Given the description of an element on the screen output the (x, y) to click on. 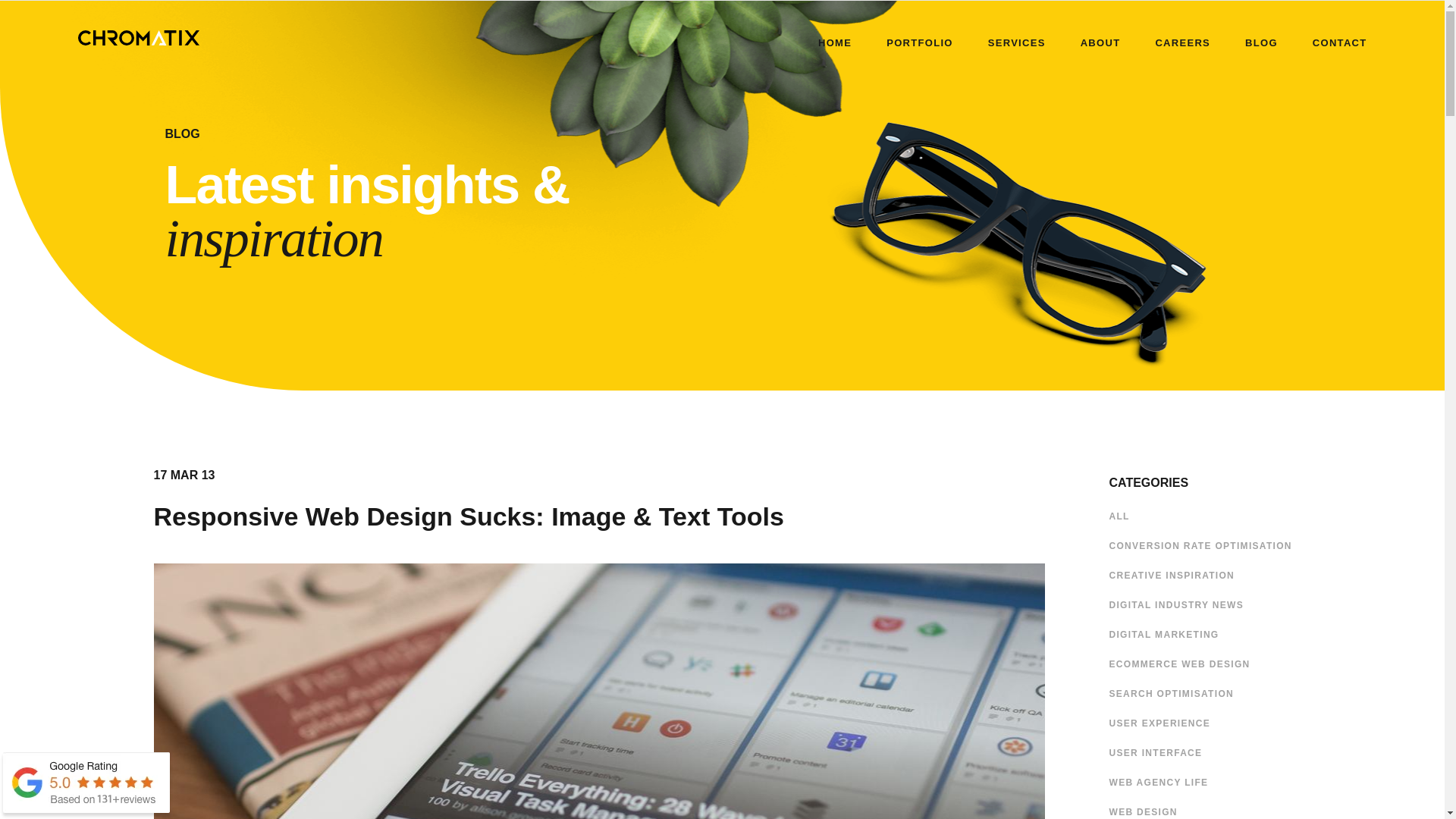
SERVICES (1016, 42)
CONTACT (1340, 42)
BLOG (1261, 42)
Google Review Image (86, 785)
HOME (834, 42)
ABOUT (1100, 42)
CAREERS (1181, 42)
PORTFOLIO (919, 42)
Send (68, 6)
